Given the description of an element on the screen output the (x, y) to click on. 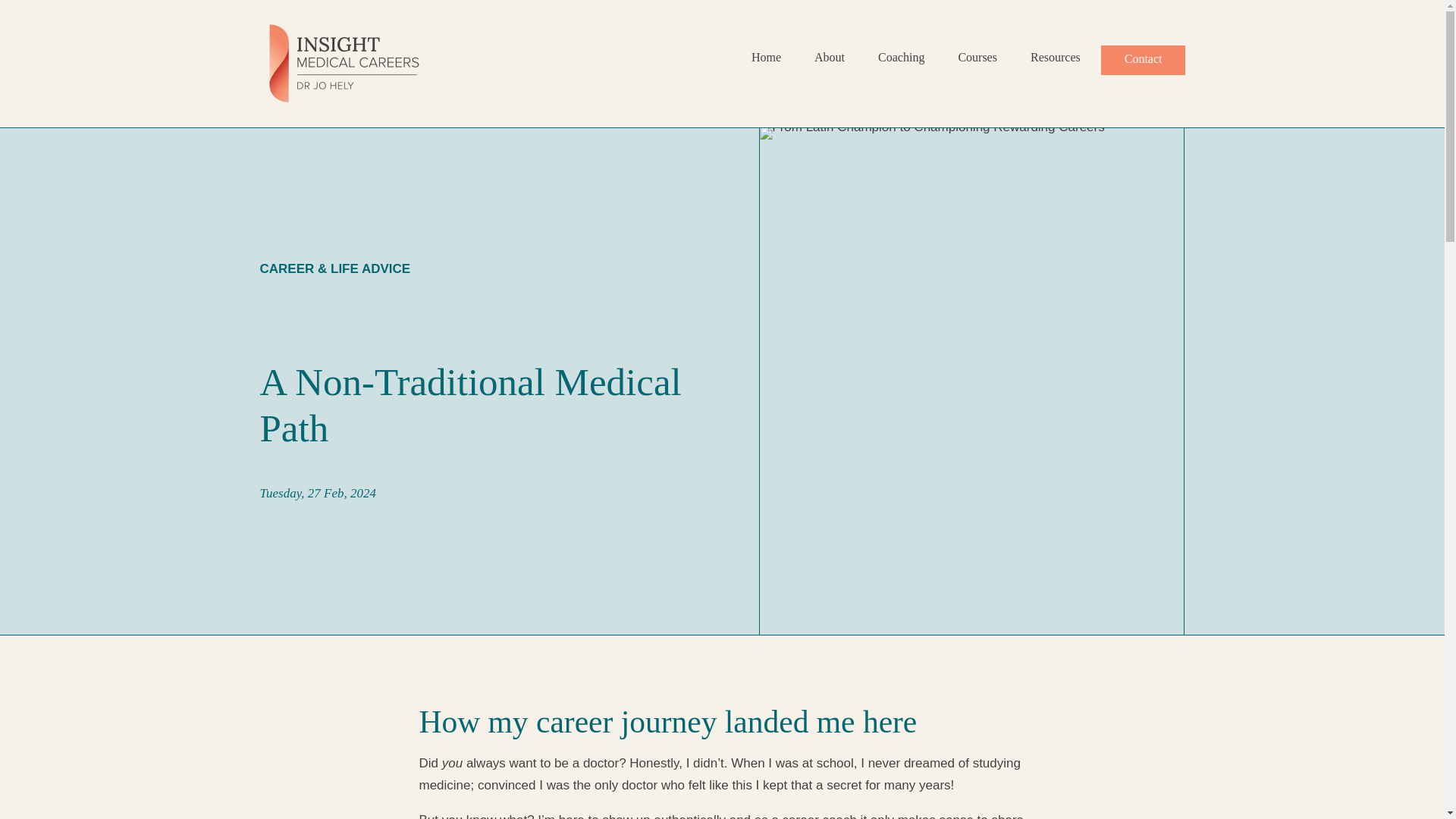
Courses (977, 63)
About (828, 63)
Home (766, 63)
Contact (1143, 60)
From Latin Champion to Championing Rewarding Careers (931, 133)
Logo (343, 63)
Resources (1055, 63)
Coaching (900, 63)
